Given the description of an element on the screen output the (x, y) to click on. 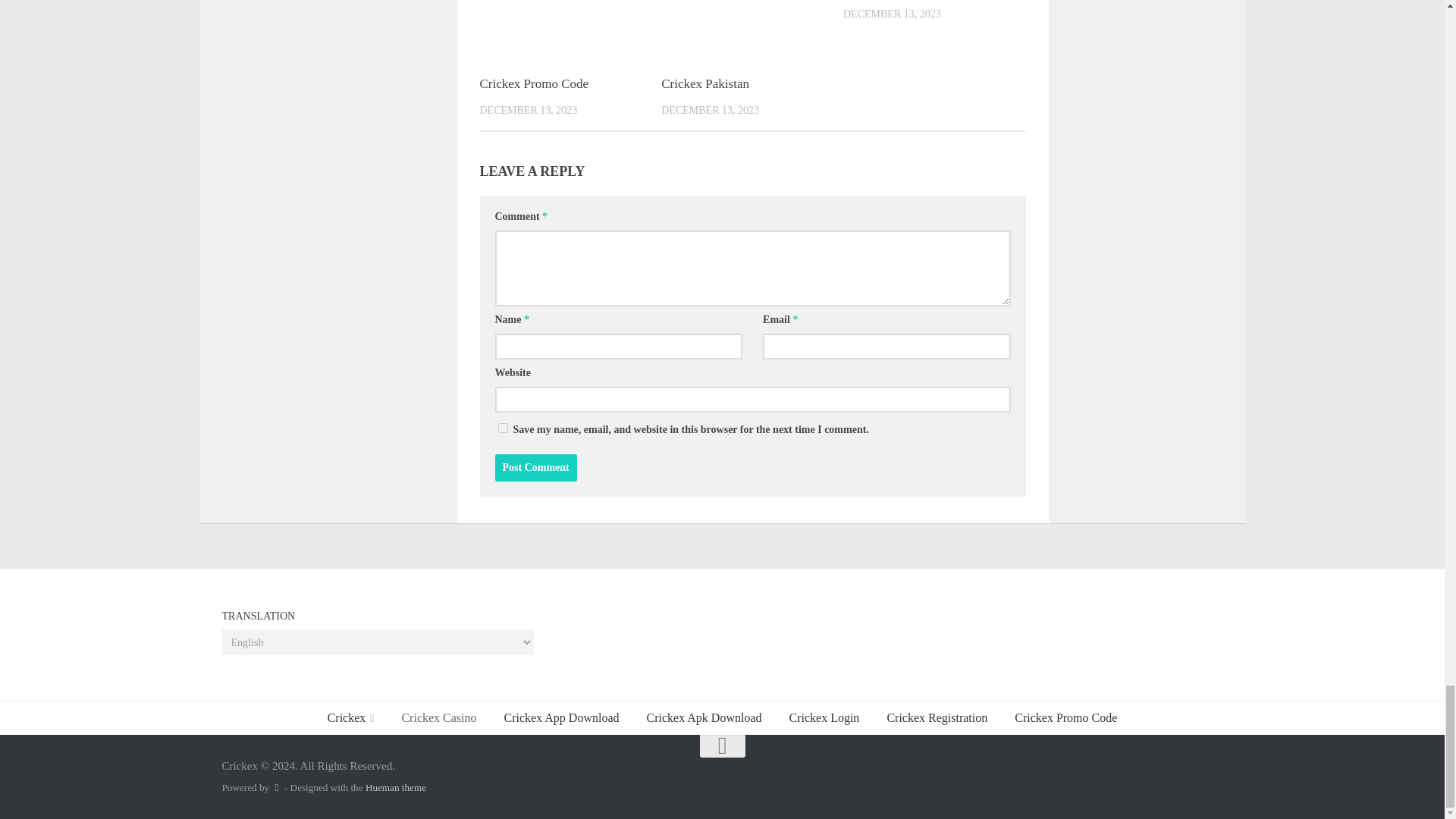
yes (501, 428)
Crickex Promo Code (533, 83)
Post Comment (535, 467)
Hueman theme (395, 787)
Powered by WordPress (275, 787)
Crickex Pakistan (705, 83)
